Given the description of an element on the screen output the (x, y) to click on. 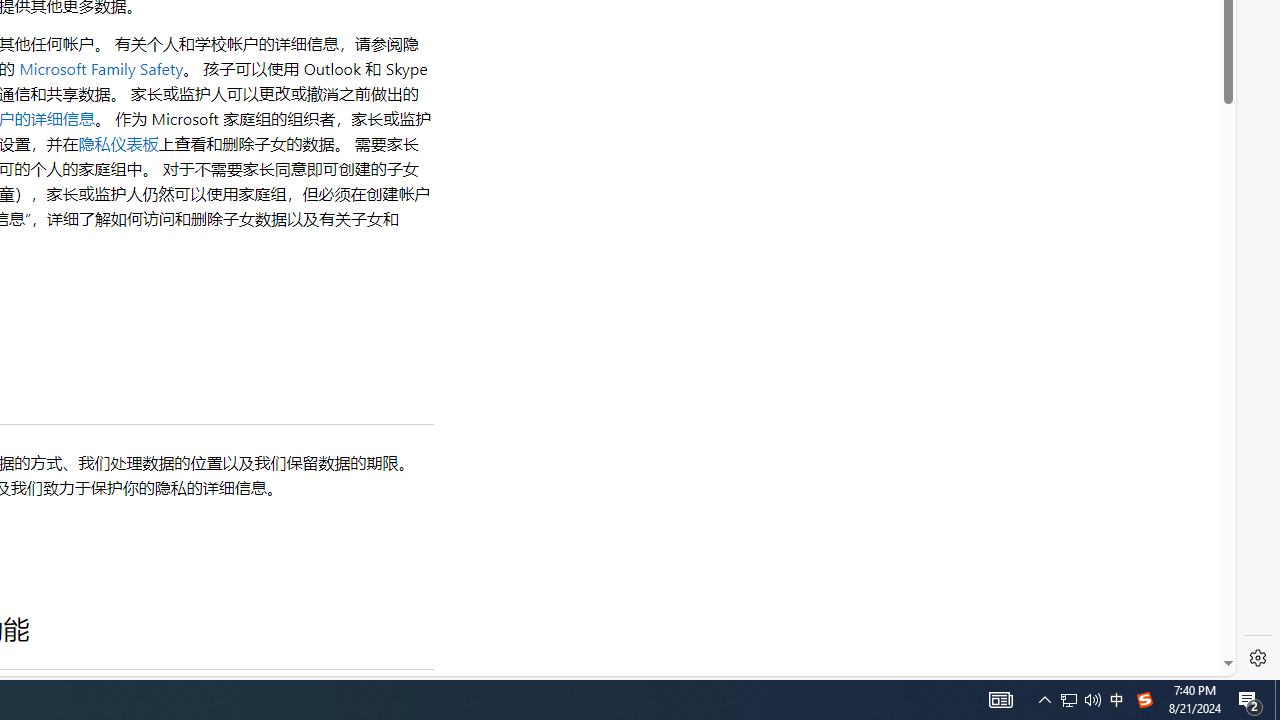
Microsoft Family Safety (101, 67)
